Given the description of an element on the screen output the (x, y) to click on. 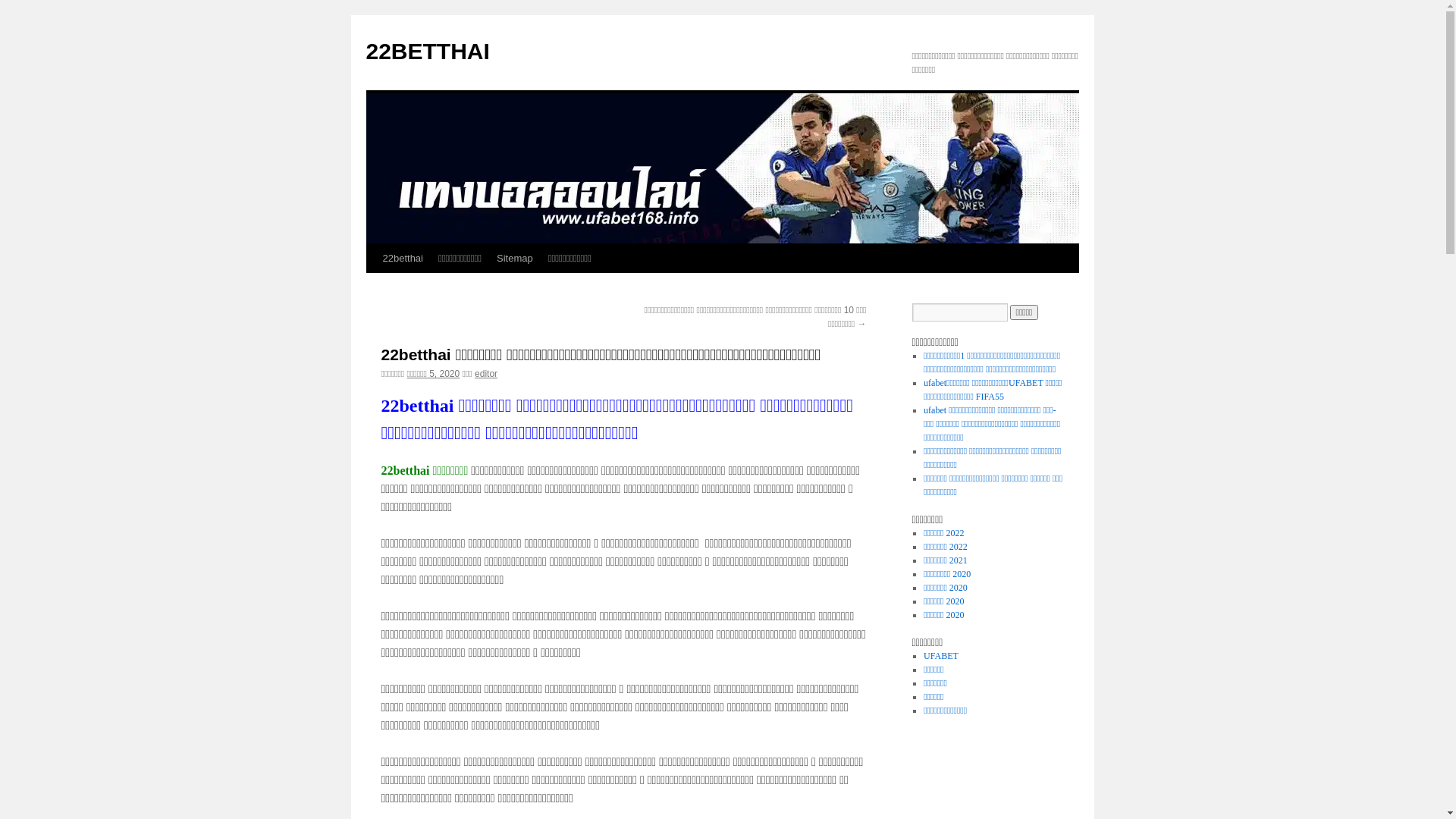
22BETTHAI Element type: text (427, 50)
editor Element type: text (485, 373)
22betthai Element type: text (402, 258)
UFABET Element type: text (940, 655)
Sitemap Element type: text (514, 258)
